Given the description of an element on the screen output the (x, y) to click on. 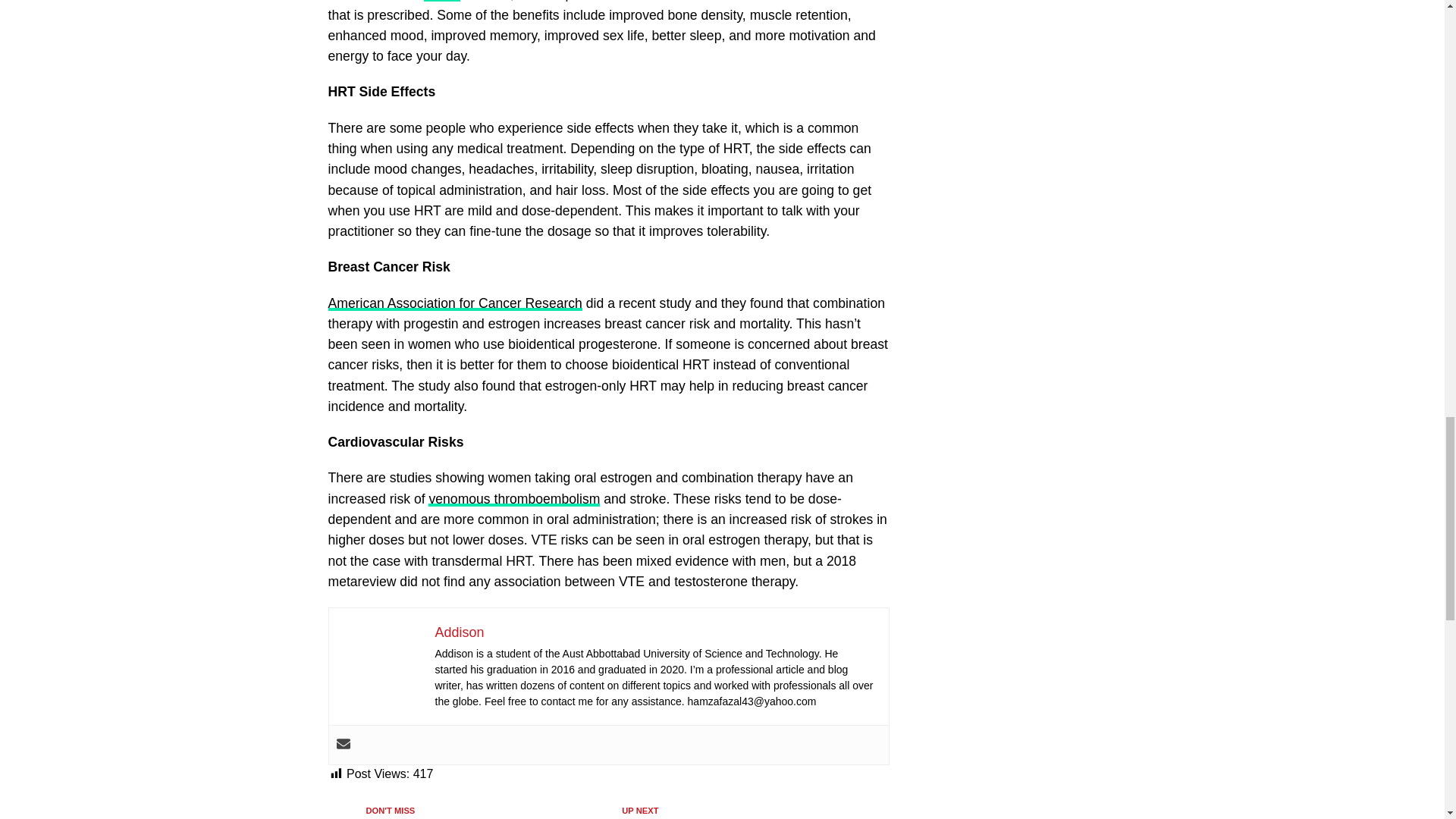
health (441, 0)
venomous thromboembolism (513, 498)
American Association for Cancer Research (453, 303)
Addison (459, 631)
